Given the description of an element on the screen output the (x, y) to click on. 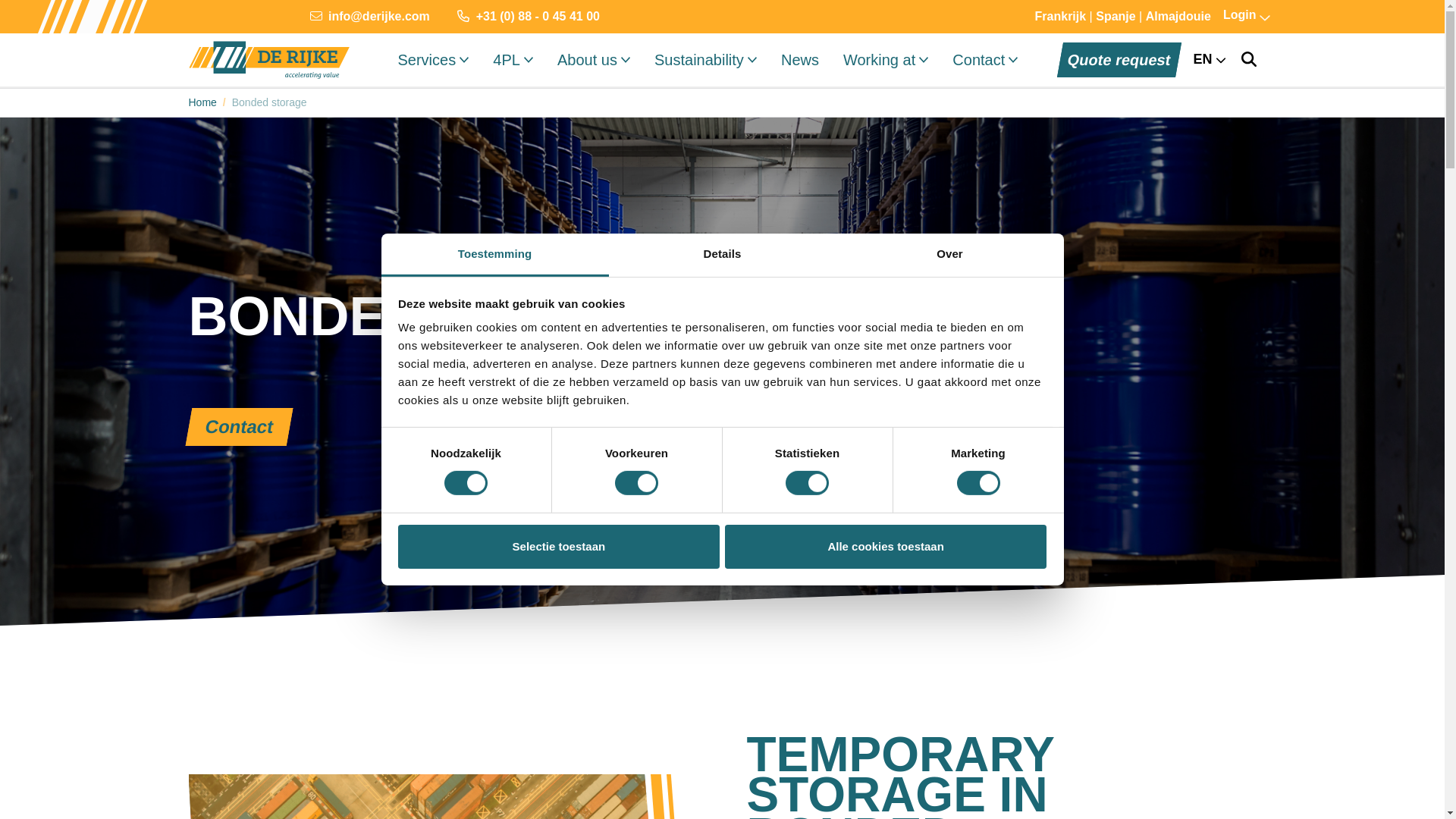
Toestemming (494, 254)
Over (948, 254)
Details (721, 254)
